Given the description of an element on the screen output the (x, y) to click on. 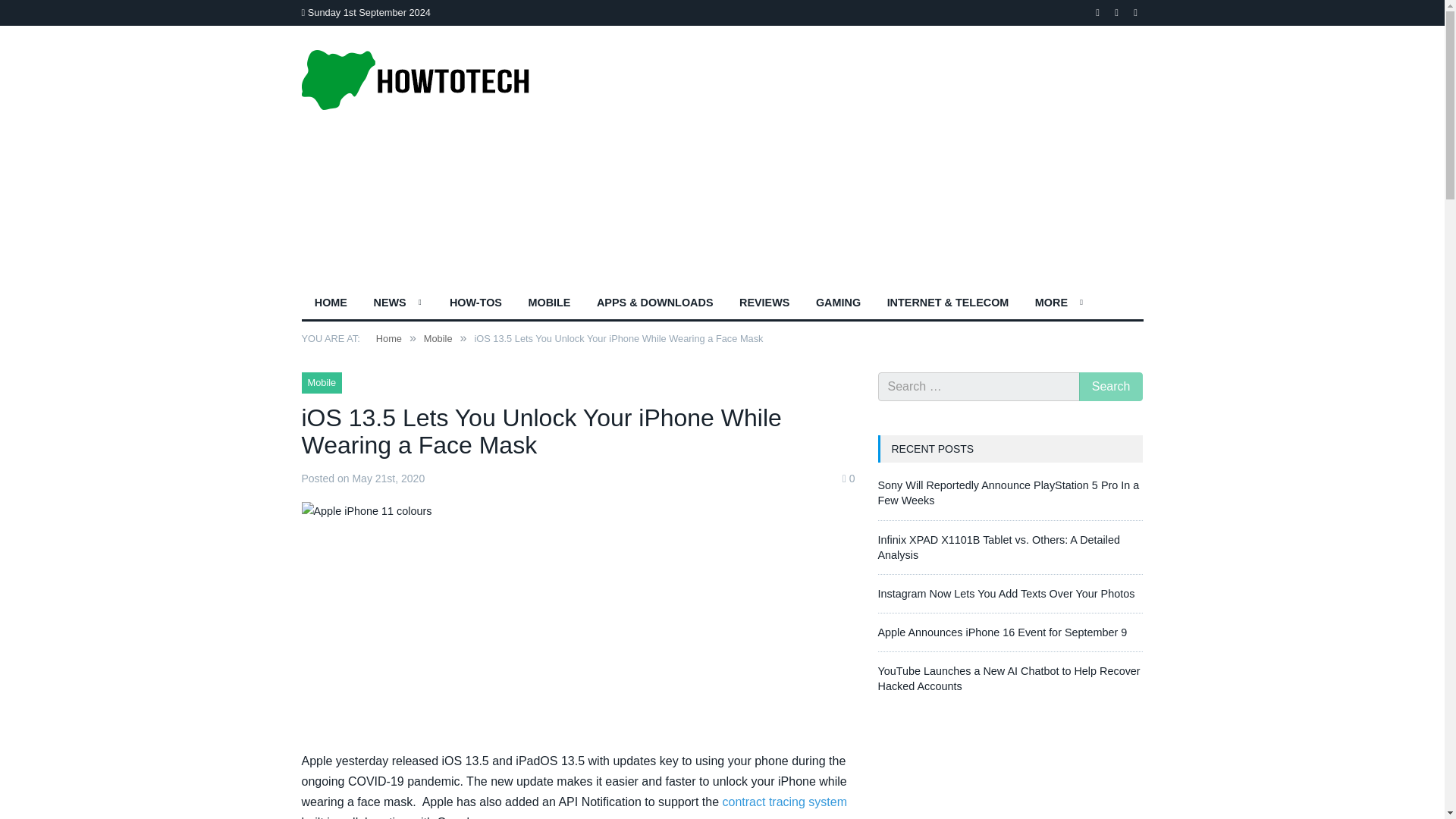
REVIEWS (764, 303)
HOW-TOS (475, 303)
NEWS (397, 303)
HOME (331, 303)
MOBILE (549, 303)
Home (388, 337)
Mobile (437, 337)
MORE (1059, 303)
Search (1110, 386)
contract tracing system (784, 801)
